Given the description of an element on the screen output the (x, y) to click on. 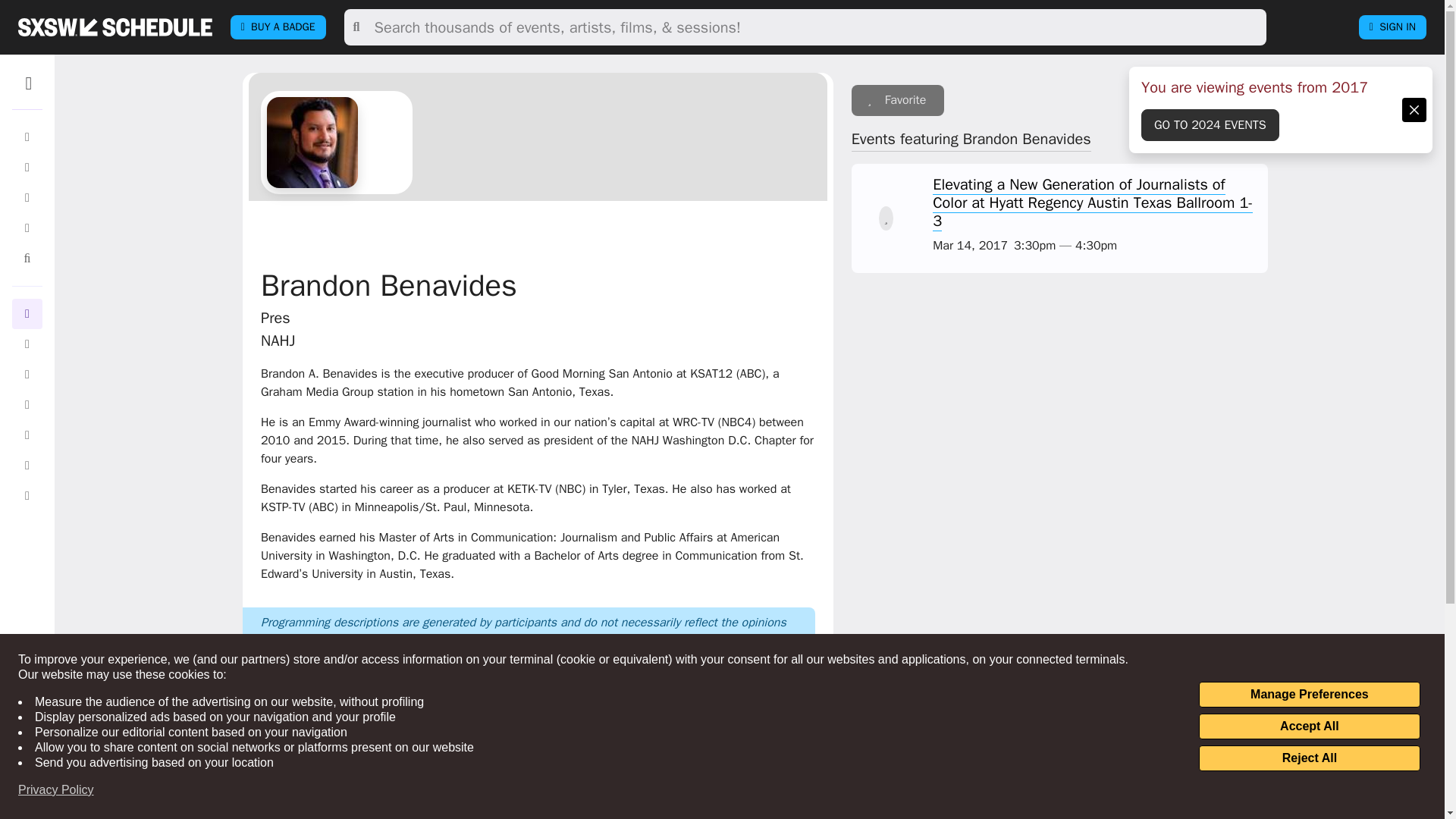
GO TO 2024 EVENTS (1210, 124)
Privacy Policy (55, 789)
Manage Preferences (1309, 694)
sxsw SCHEDULE (114, 27)
Accept All (1309, 726)
BUY A BADGE (278, 27)
Sign In to add to your favorites. (897, 100)
Reject All (1309, 758)
SIGN IN (1392, 27)
